Given the description of an element on the screen output the (x, y) to click on. 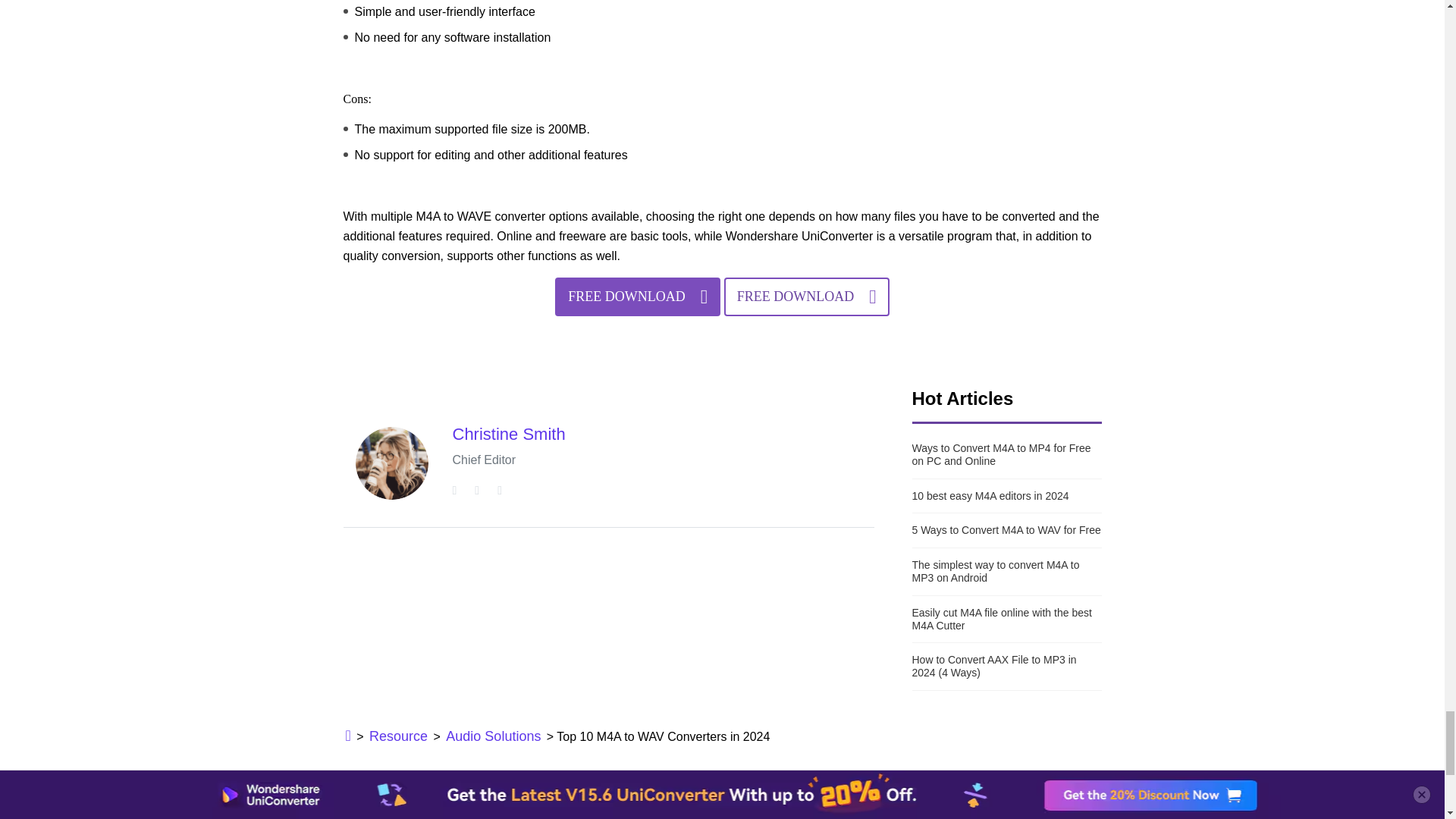
Easily cut M4A file online with the best M4A Cutter (1005, 618)
10 best easy M4A editors in 2024 (1005, 496)
The simplest way to convert M4A to MP3 on Android (1005, 571)
Ways to Convert M4A to MP4 for Free on PC and Online (1005, 454)
5 Ways to Convert M4A to WAV for Free (1005, 530)
